Given the description of an element on the screen output the (x, y) to click on. 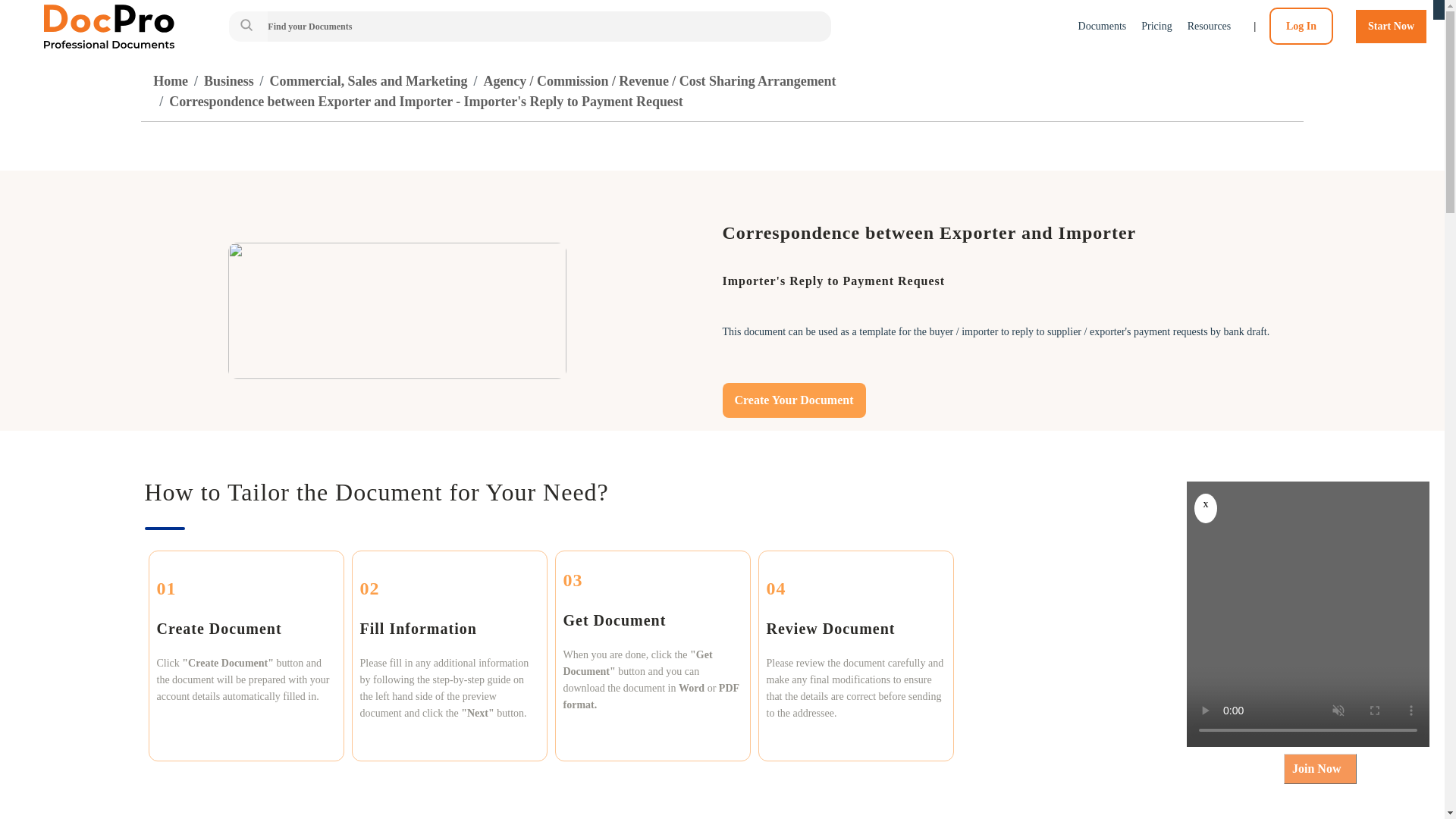
Home (169, 80)
Documents (1102, 26)
Commercial, Sales and Marketing (368, 80)
Resources (1209, 26)
Log In (1301, 26)
Create Your Document (793, 400)
Pricing (1156, 26)
Join Now (1320, 768)
Start Now (1390, 26)
Business (228, 80)
